Given the description of an element on the screen output the (x, y) to click on. 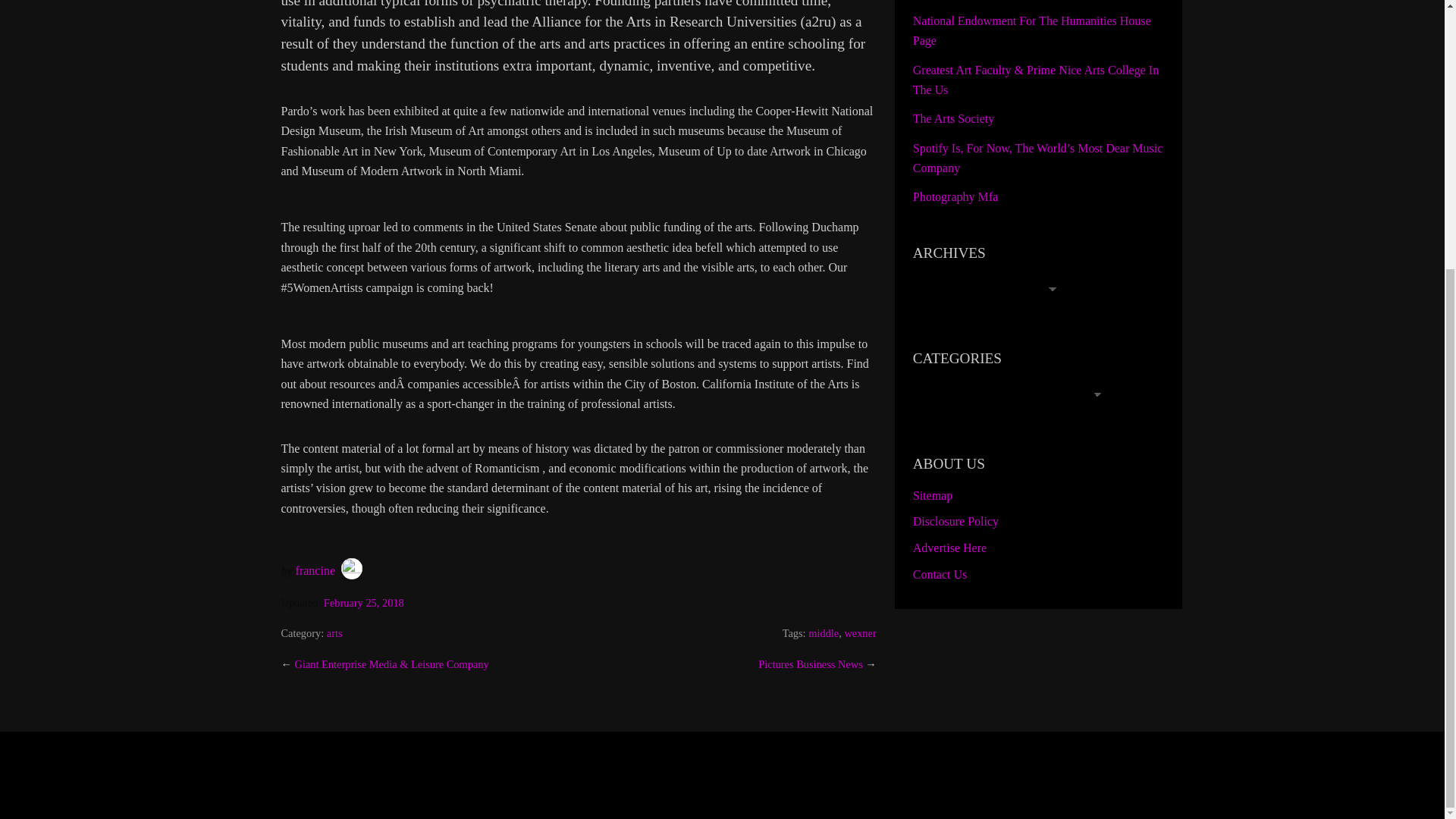
February 25, 2018 (363, 603)
arts (334, 633)
Posts by francine (314, 570)
middle (823, 633)
francine (314, 570)
12:47 pm (363, 603)
